Given the description of an element on the screen output the (x, y) to click on. 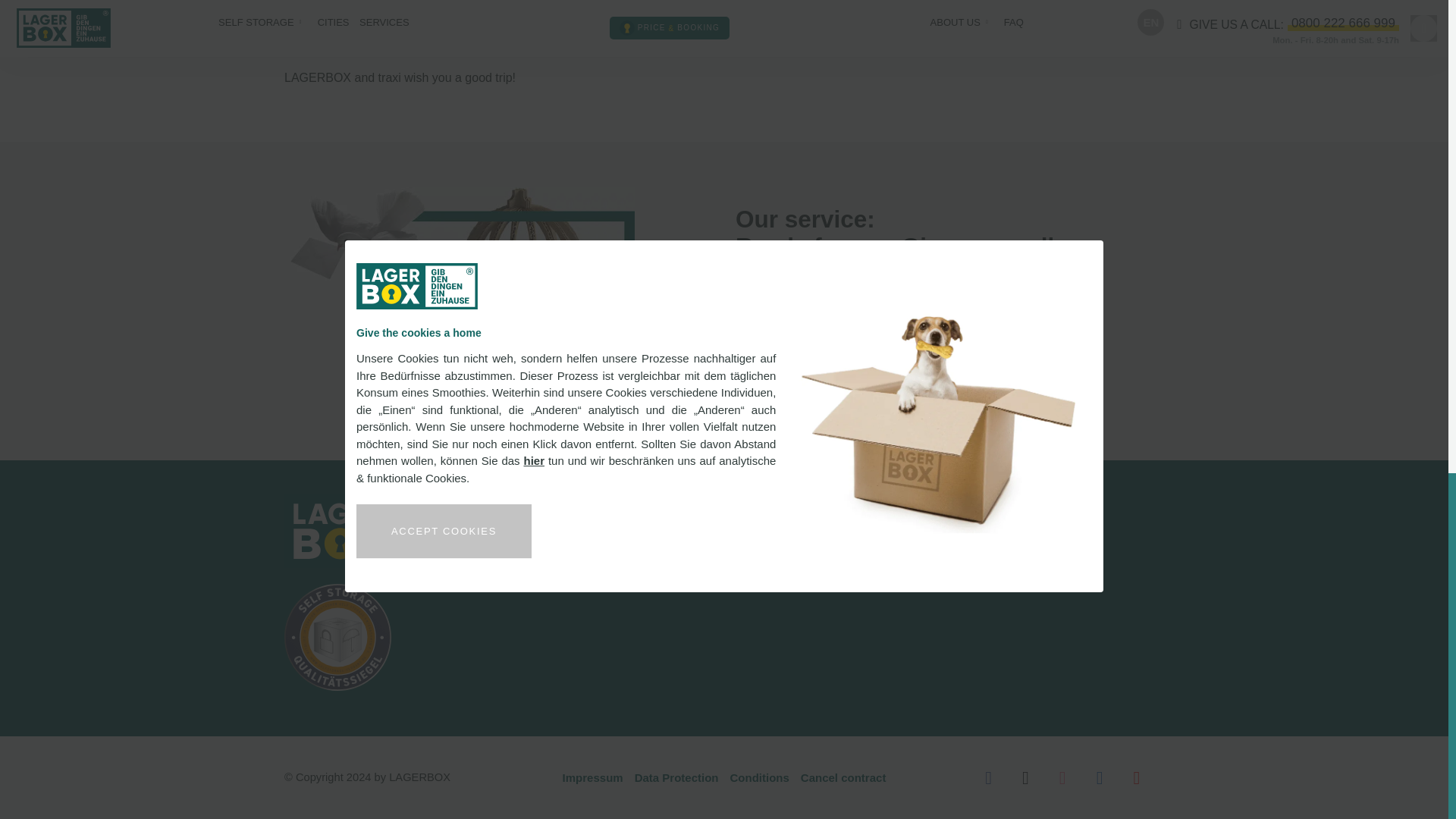
Impressum (592, 777)
Conditions (758, 777)
Data Protection (675, 777)
FEDESSA (1061, 25)
Cancel contract (842, 777)
LAGERBOX Startseite (338, 531)
SEND A MAIL (795, 373)
Contact (460, 300)
